Given the description of an element on the screen output the (x, y) to click on. 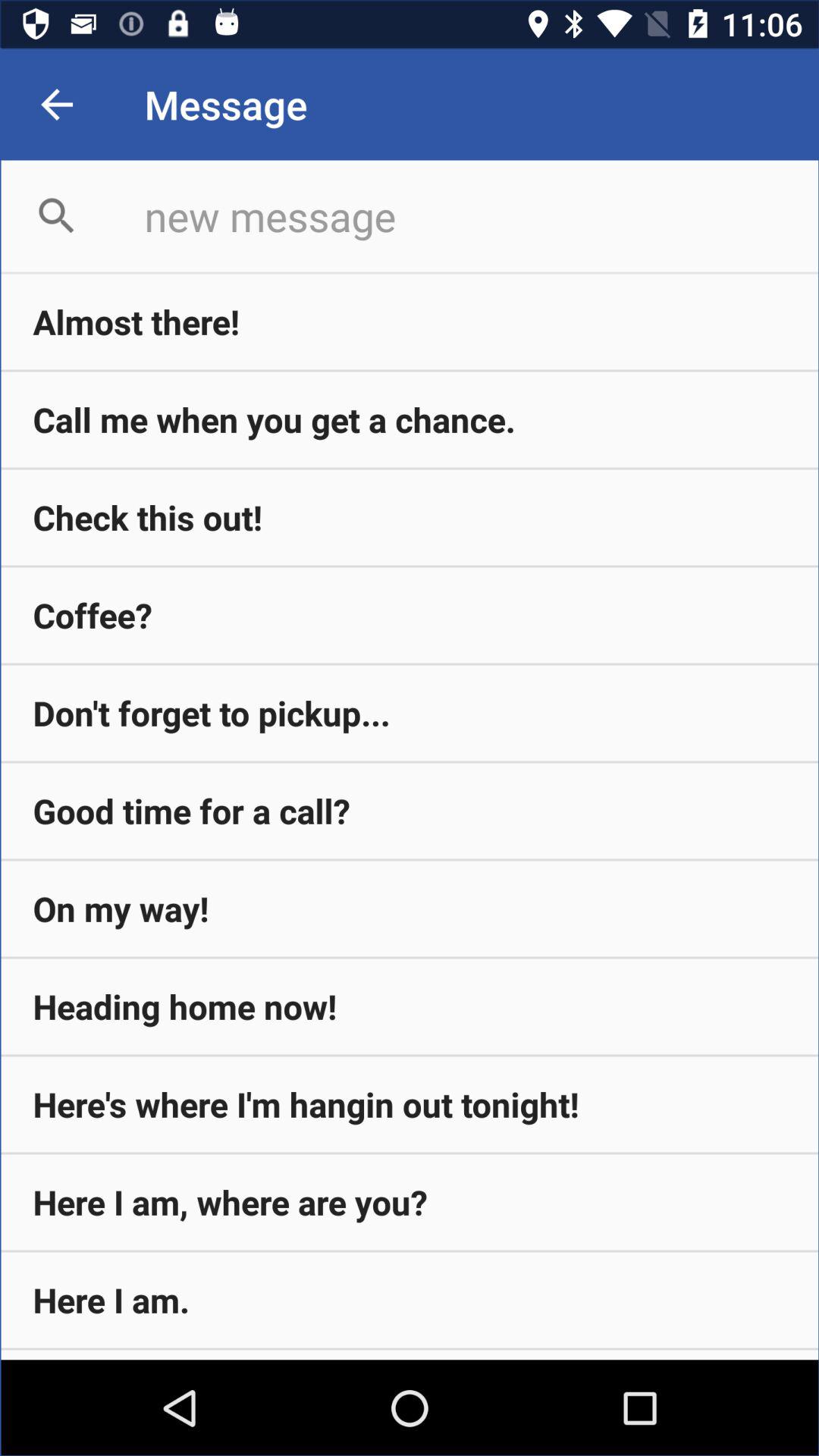
turn on the item above on my way! (409, 810)
